Given the description of an element on the screen output the (x, y) to click on. 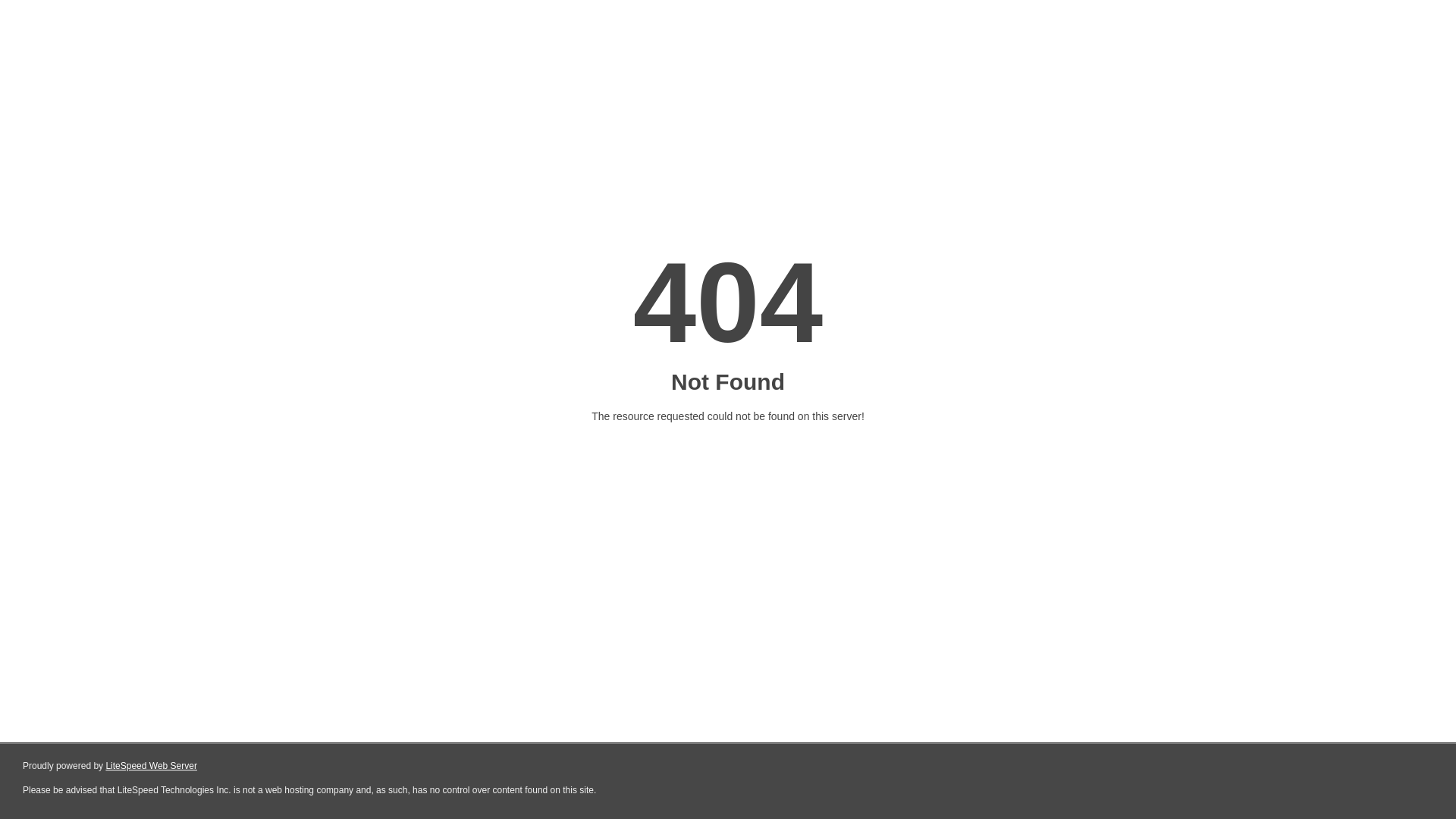
LiteSpeed Web Server Element type: text (151, 765)
